Given the description of an element on the screen output the (x, y) to click on. 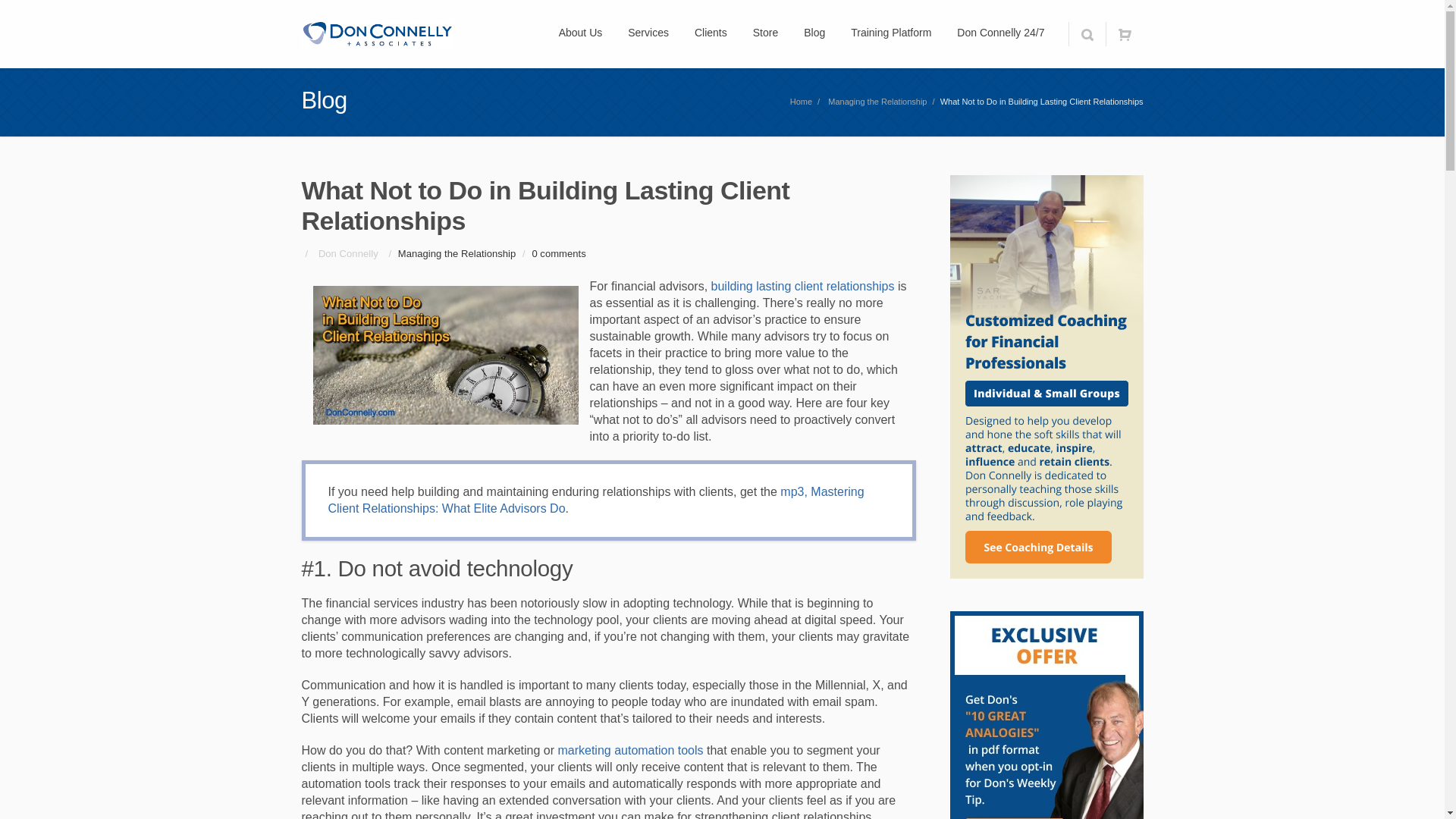
Home (801, 101)
mp3, Mastering Client Relationships: What Elite Advisors Do (595, 500)
Training Platform (890, 33)
Search (1086, 33)
building lasting client relationships (803, 286)
Cart (1123, 33)
Managing the Relationship (456, 253)
marketing automation tools (630, 749)
Managing the Relationship (877, 101)
0 comments (558, 253)
